Given the description of an element on the screen output the (x, y) to click on. 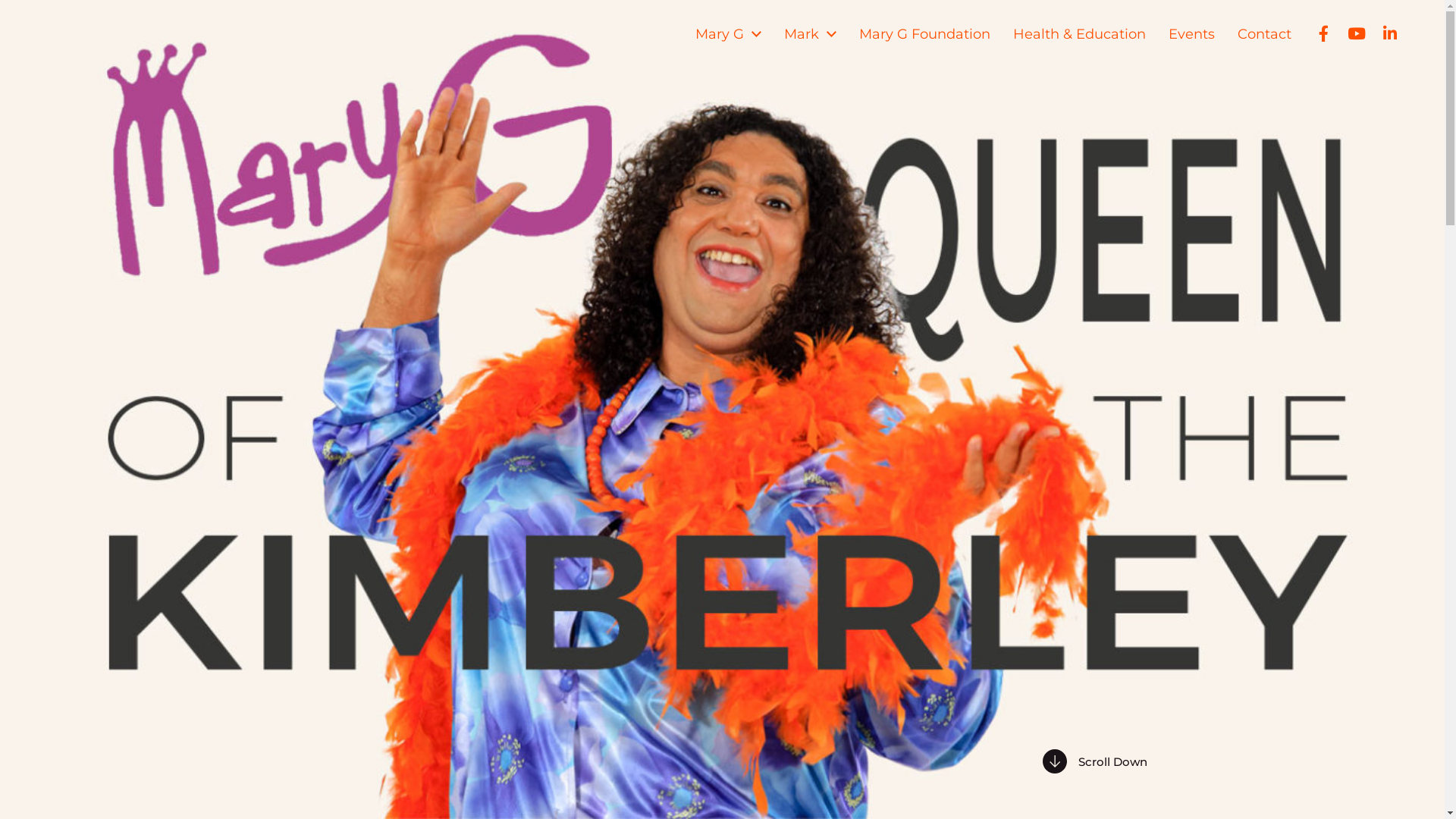
Events Element type: text (1191, 33)
Health & Education Element type: text (1079, 33)
Mary G Foundation Element type: text (924, 33)
Mary G Element type: text (719, 33)
Contact Element type: text (1264, 33)
Mark Element type: text (801, 33)
Scroll Down Element type: text (1093, 761)
